Given the description of an element on the screen output the (x, y) to click on. 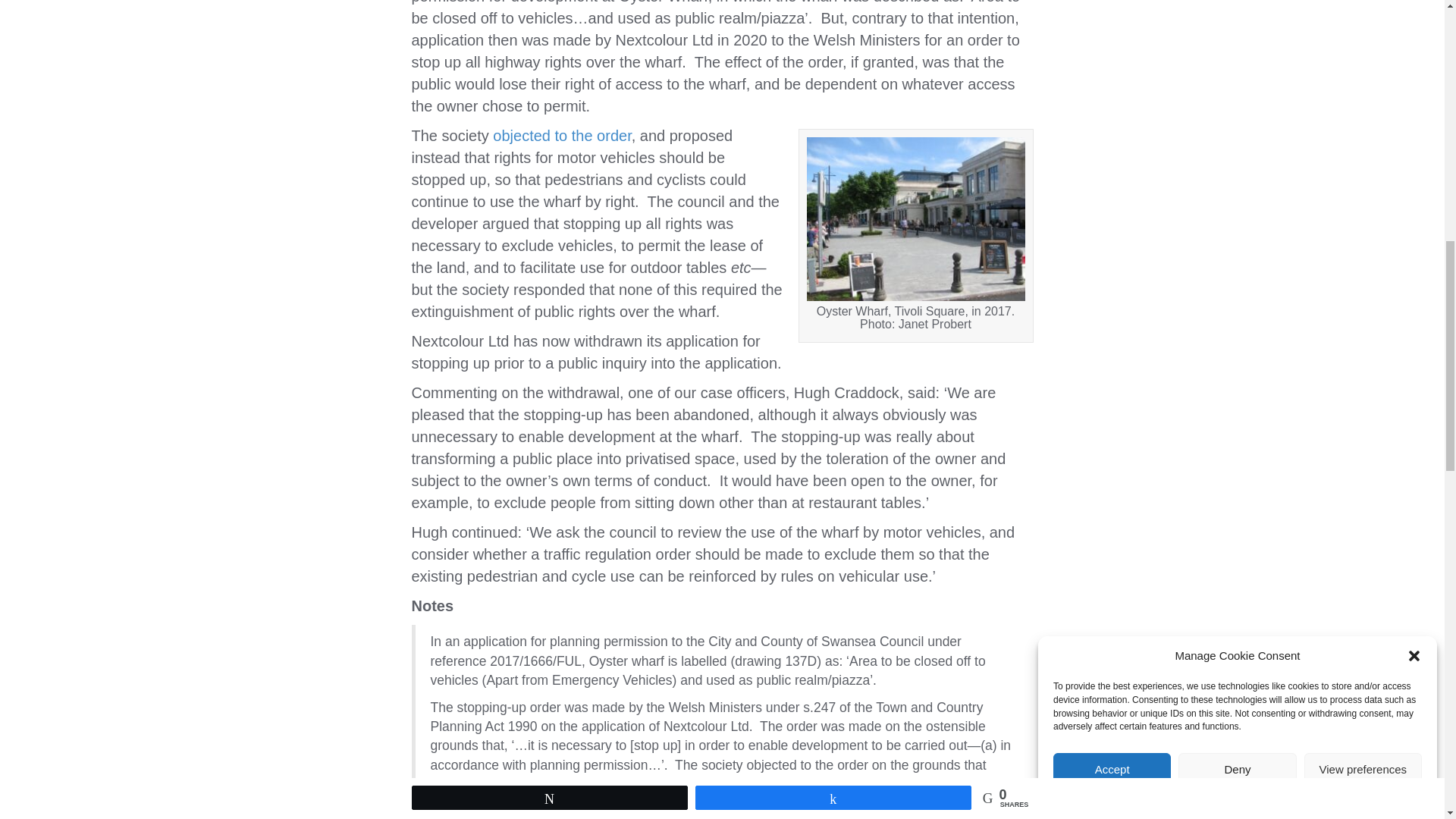
Accept (1111, 297)
Cookie Policy (1196, 208)
Privacy Statement (1268, 195)
Deny (1236, 269)
View preferences (1363, 254)
